Given the description of an element on the screen output the (x, y) to click on. 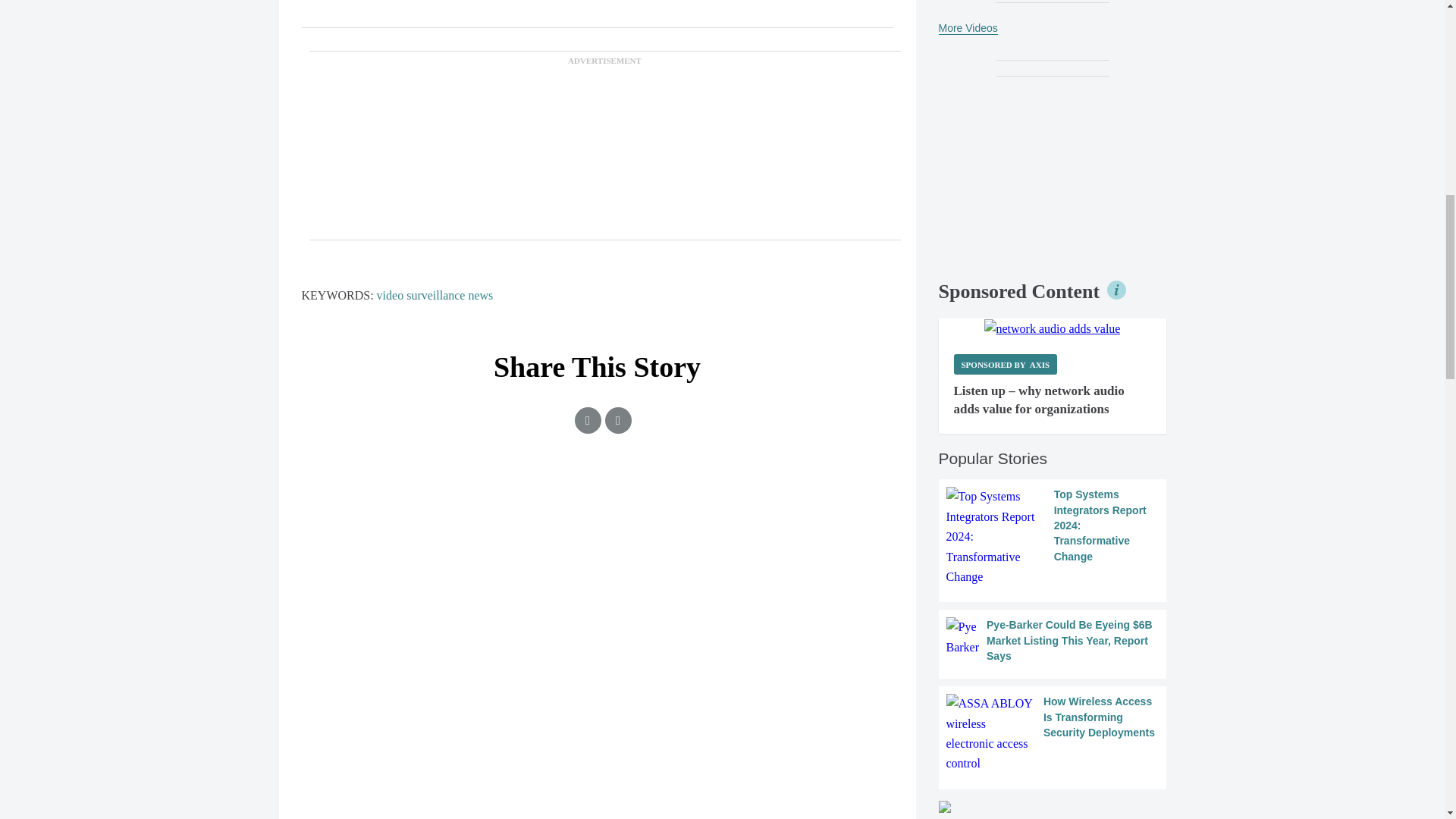
How Wireless Access Is Transforming Security Deployments (1052, 733)
Axis Communications (1052, 329)
Top Systems Integrators Report 2024: Transformative Change (1052, 536)
Sponsored by Axis  (1005, 363)
